Given the description of an element on the screen output the (x, y) to click on. 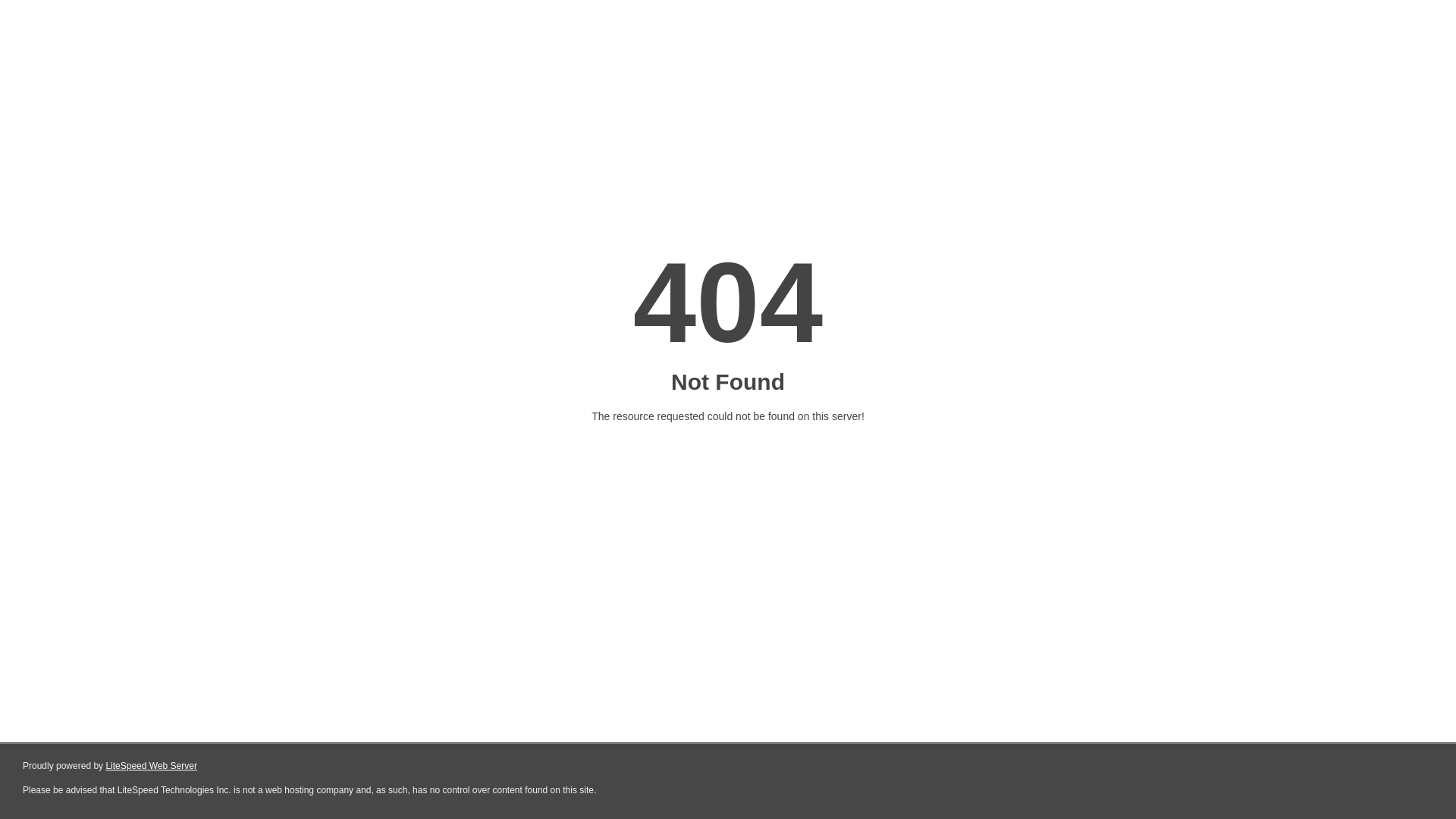
LiteSpeed Web Server Element type: text (151, 765)
